Given the description of an element on the screen output the (x, y) to click on. 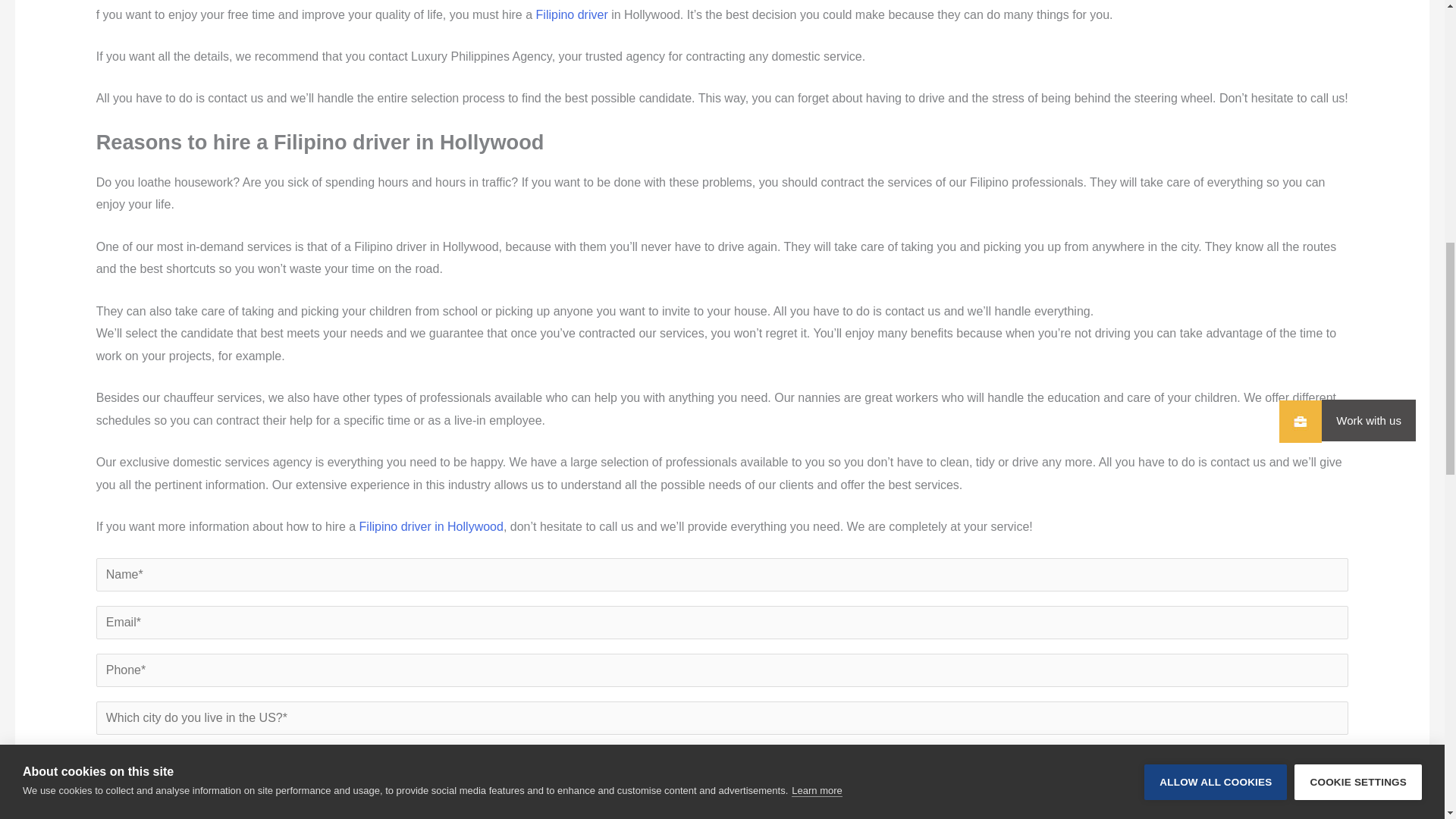
ALLOW ALL COOKIES (1215, 10)
COOKIE SETTINGS (1358, 6)
Learn more (816, 29)
